Given the description of an element on the screen output the (x, y) to click on. 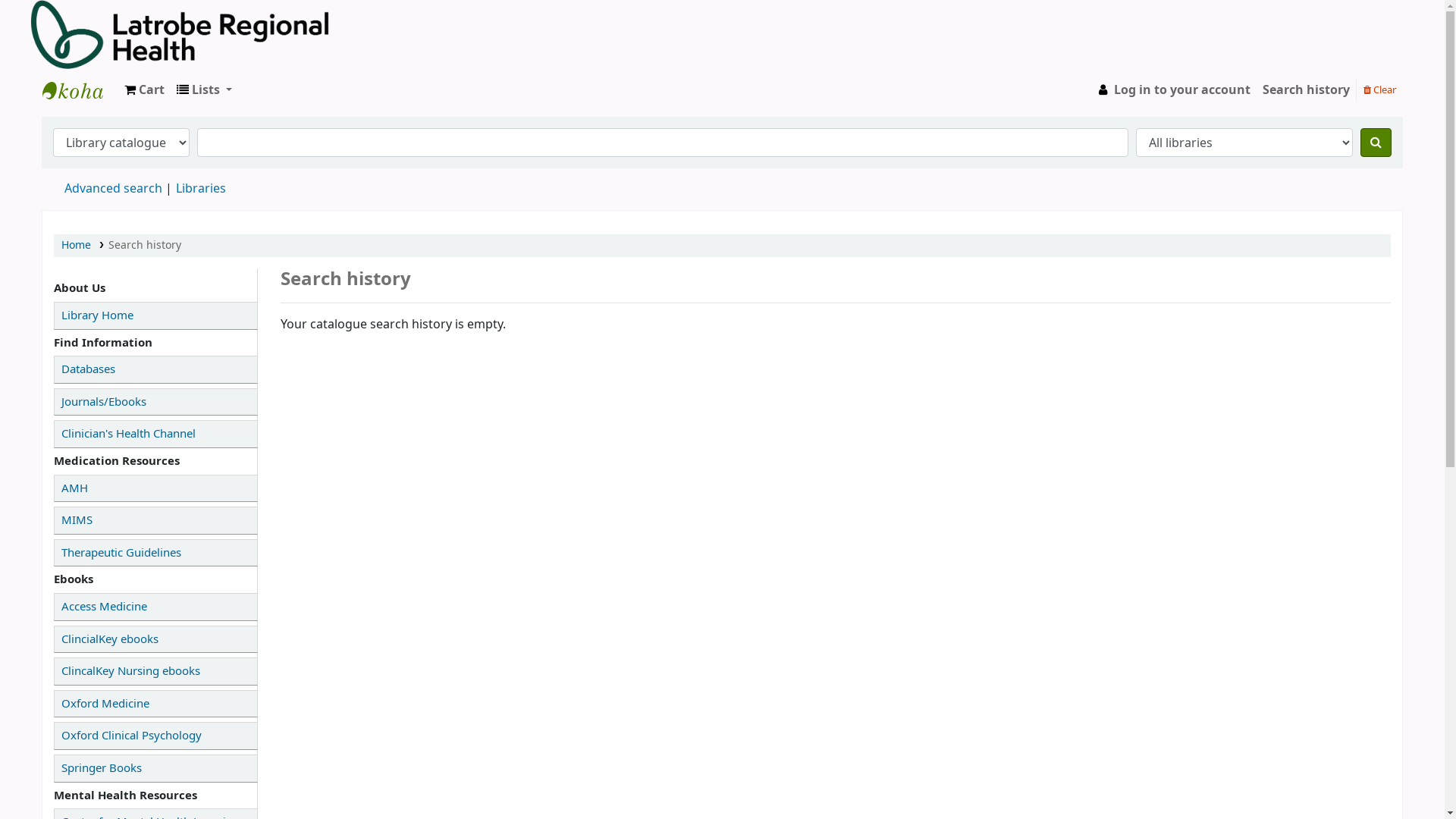
Databases Element type: text (155, 369)
Libraries Element type: text (200, 188)
Advanced search Element type: text (113, 188)
Cart Element type: text (144, 90)
ClincialKey ebooks Element type: text (155, 639)
AMH Element type: text (155, 488)
Therapeutic Guidelines Element type: text (155, 553)
Home Element type: text (76, 245)
Search Element type: hover (1375, 142)
MIMS Element type: text (155, 520)
ClincalKey Nursing ebooks Element type: text (155, 671)
Oxford Medicine Element type: text (155, 704)
lrhospital Element type: text (80, 90)
Clinician's Health Channel Element type: text (155, 434)
Access Medicine Element type: text (155, 607)
Clear Element type: text (1379, 89)
Library Home Element type: text (155, 315)
Springer Books Element type: text (155, 768)
Lists Element type: text (204, 90)
Oxford Clinical Psychology Element type: text (155, 735)
Journals/Ebooks Element type: text (155, 402)
Search history Element type: text (144, 245)
Search history Element type: text (1305, 90)
Log in to your account Element type: text (1172, 90)
